Given the description of an element on the screen output the (x, y) to click on. 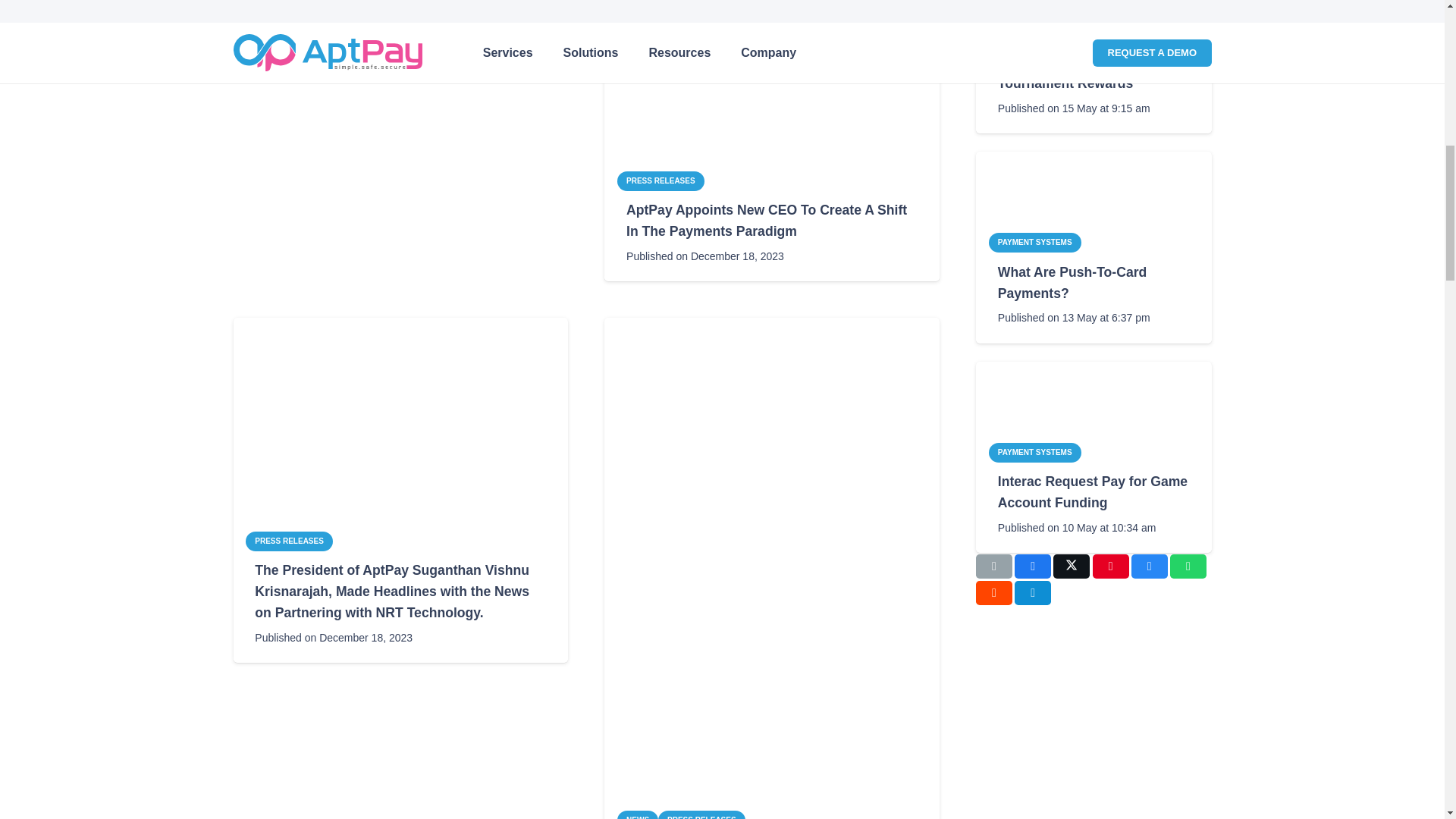
15 May 2024 at 09:15:20 -05:00 (1073, 107)
18 December 2023 at 15:18:43 -05:00 (333, 14)
Tweet this (1070, 566)
Email this (993, 566)
13 May 2024 at 18:37:09 -05:00 (1073, 317)
Share this (1032, 566)
10 May 2024 at 10:34:15 -05:00 (1076, 527)
Pin this (1111, 566)
18 December 2023 at 15:17:37 -05:00 (705, 255)
18 December 2023 at 15:14:36 -05:00 (333, 637)
